Given the description of an element on the screen output the (x, y) to click on. 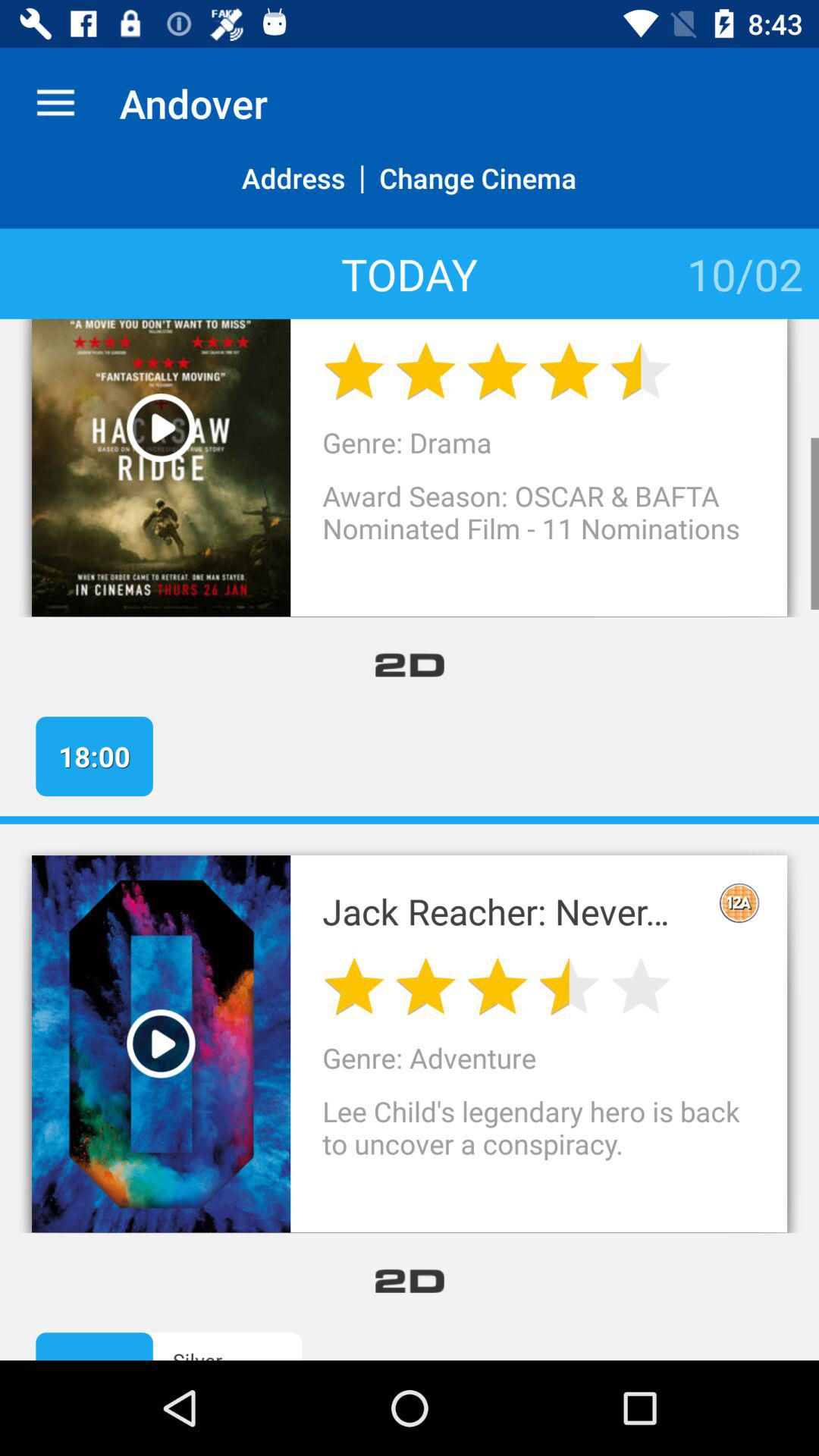
scroll to silver cinema icon (250, 1353)
